Given the description of an element on the screen output the (x, y) to click on. 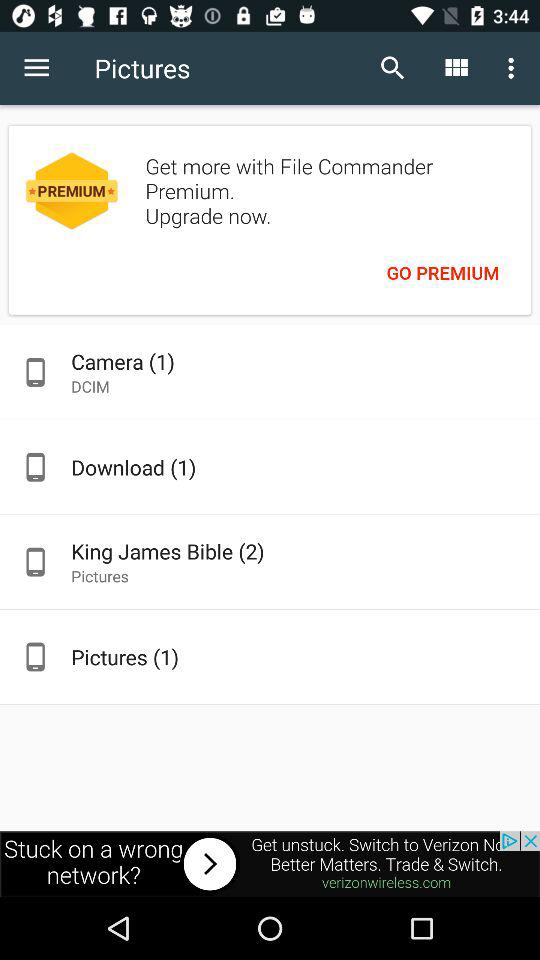
advertisement (270, 864)
